Given the description of an element on the screen output the (x, y) to click on. 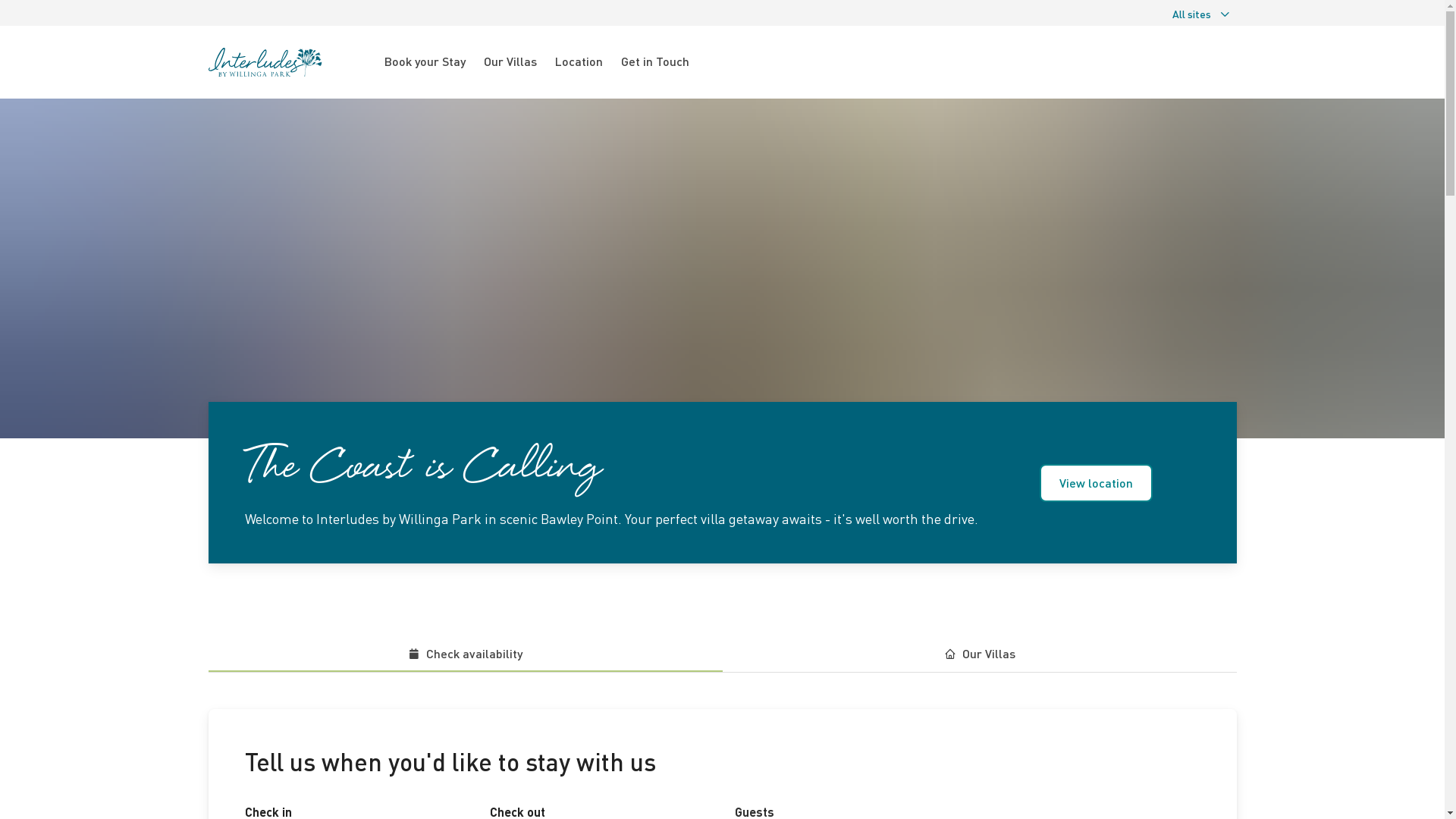
Get in Touch Element type: text (654, 61)
View location Element type: text (1095, 483)
Our Villas Element type: text (510, 61)
Book your Stay Element type: text (423, 61)
All sites Element type: text (1201, 13)
Interludes Element type: text (290, 62)
Our Villas Element type: text (978, 653)
Location Element type: text (578, 61)
Check availability Element type: text (464, 653)
